Given the description of an element on the screen output the (x, y) to click on. 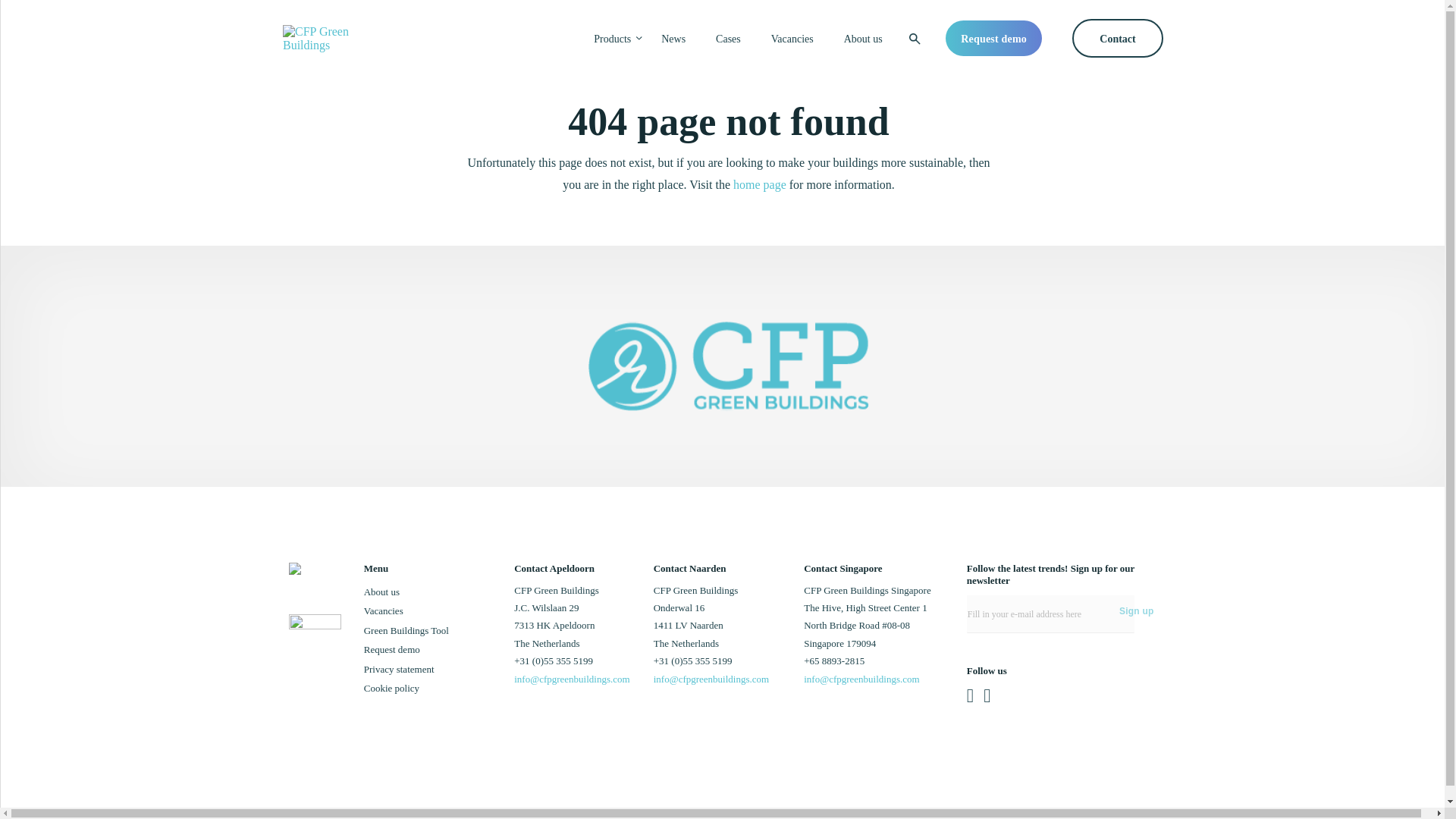
Contact (1117, 37)
Green Buildings Tool (406, 630)
Request demo (993, 38)
Products (612, 39)
Request demo (392, 649)
home page (759, 184)
Cookie policy (391, 687)
About us (863, 39)
Privacy statement (398, 668)
Vacancies (383, 610)
